Given the description of an element on the screen output the (x, y) to click on. 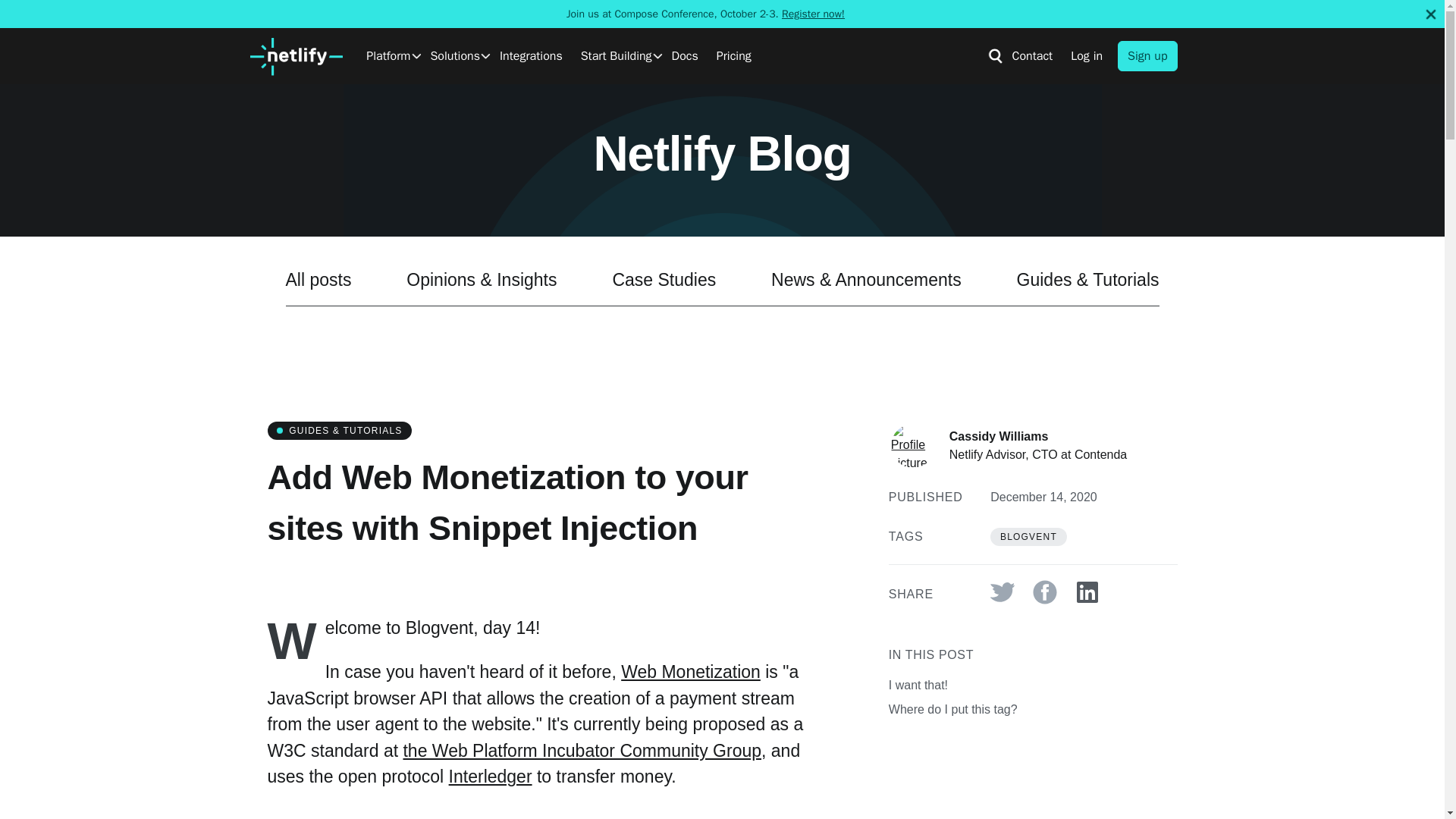
Go to homepage (296, 56)
Close announcement bar (1430, 13)
Register now! (812, 13)
Integrations (531, 55)
